Given the description of an element on the screen output the (x, y) to click on. 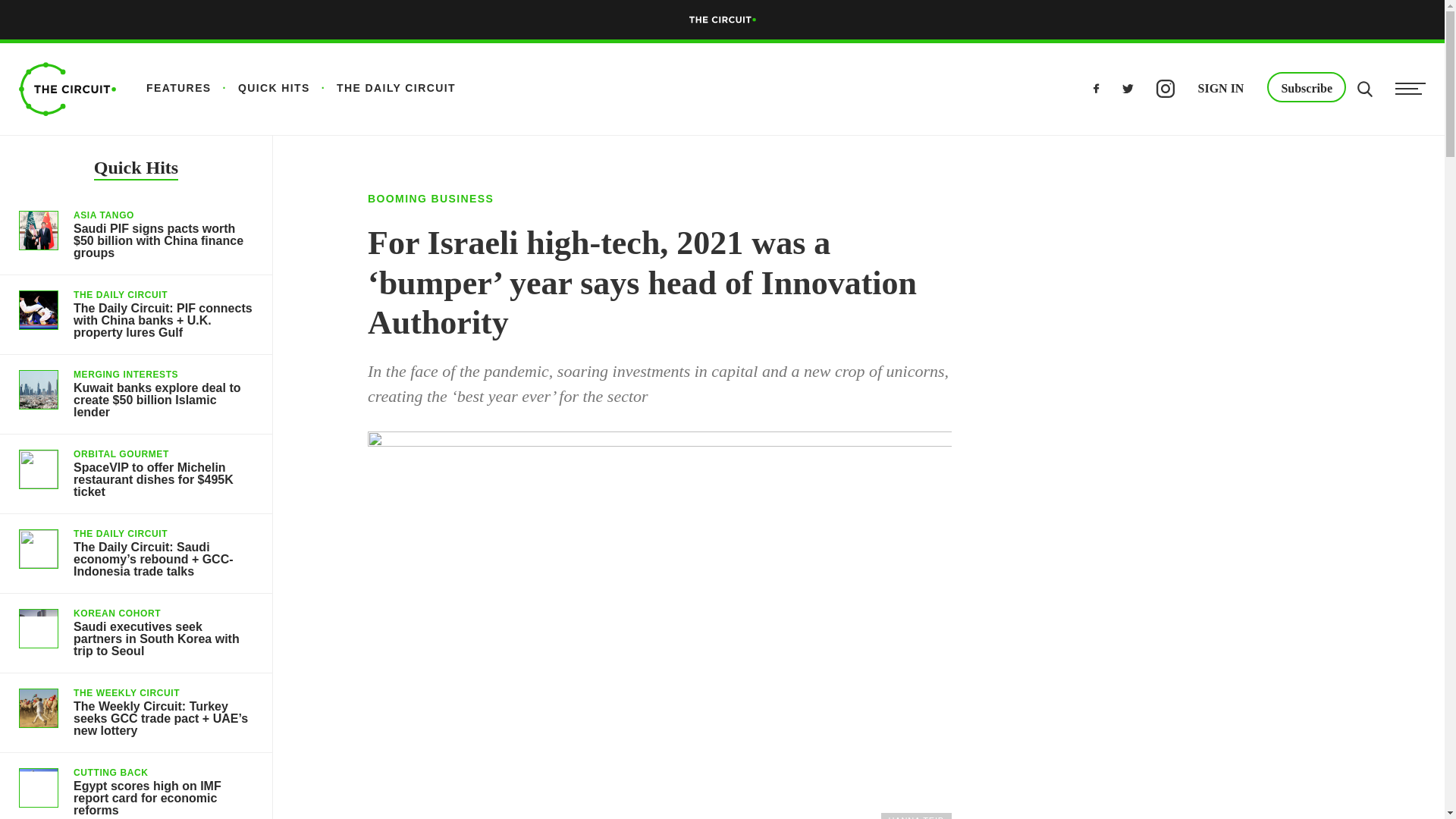
FEATURES (179, 88)
Quick Hits (135, 169)
QUICK HITS (260, 88)
THE DAILY CIRCUIT (382, 88)
SIGN IN (1221, 86)
Subscribe (1305, 87)
